Given the description of an element on the screen output the (x, y) to click on. 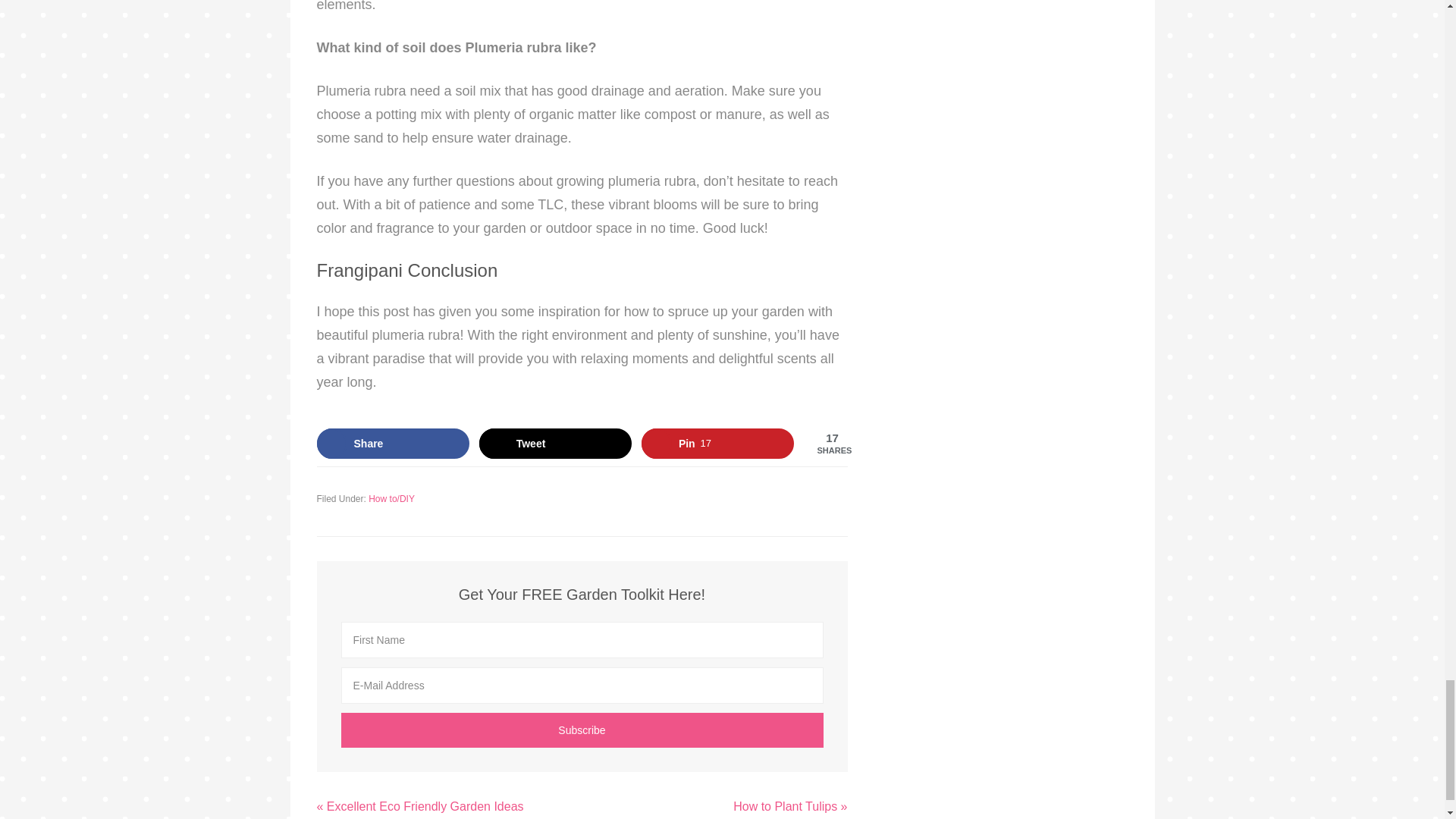
Share on X (555, 443)
Share on Facebook (393, 443)
Save to Pinterest (718, 443)
Subscribe (582, 729)
